Given the description of an element on the screen output the (x, y) to click on. 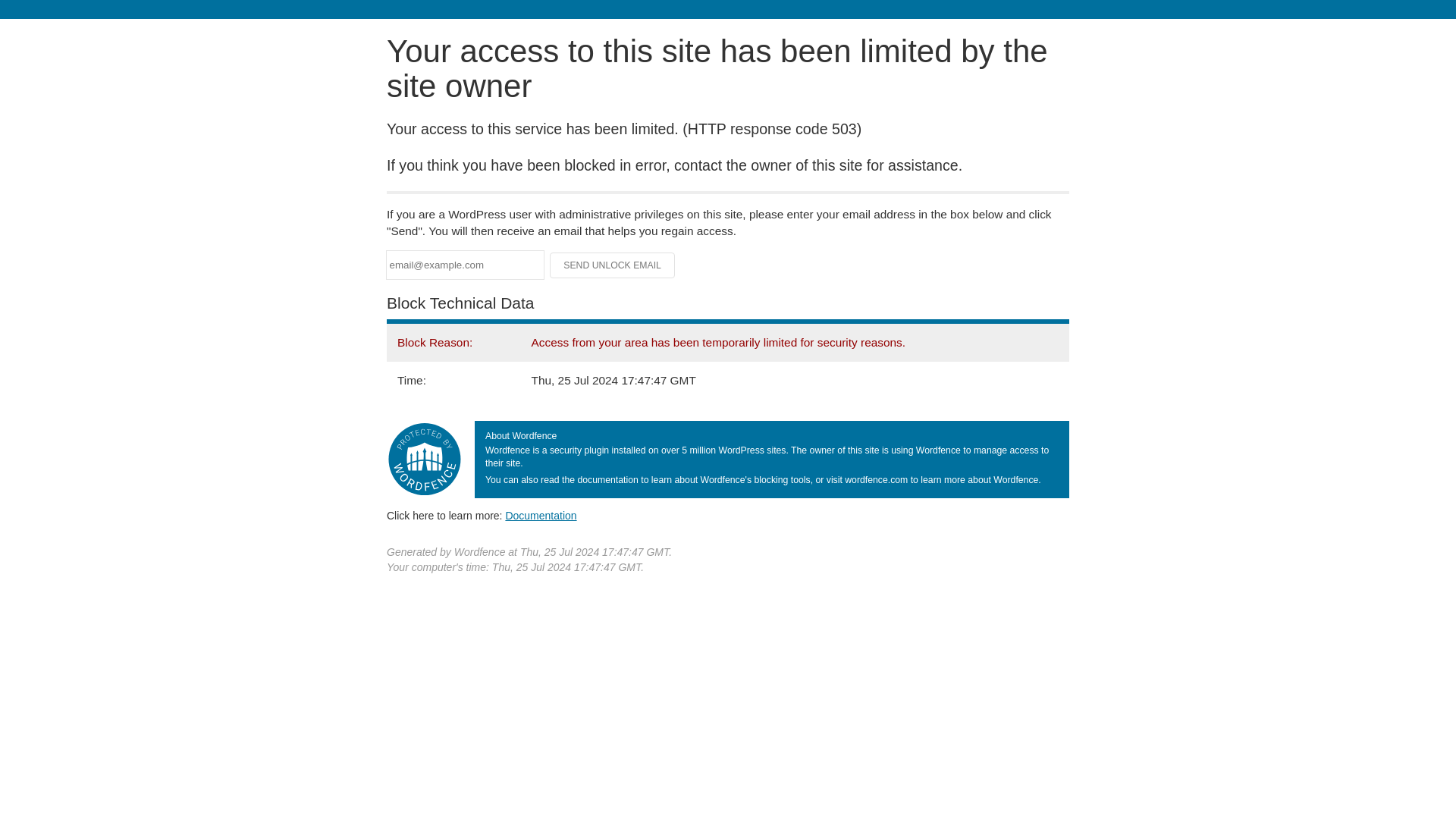
Send Unlock Email (612, 265)
Send Unlock Email (612, 265)
Documentation (540, 515)
